Given the description of an element on the screen output the (x, y) to click on. 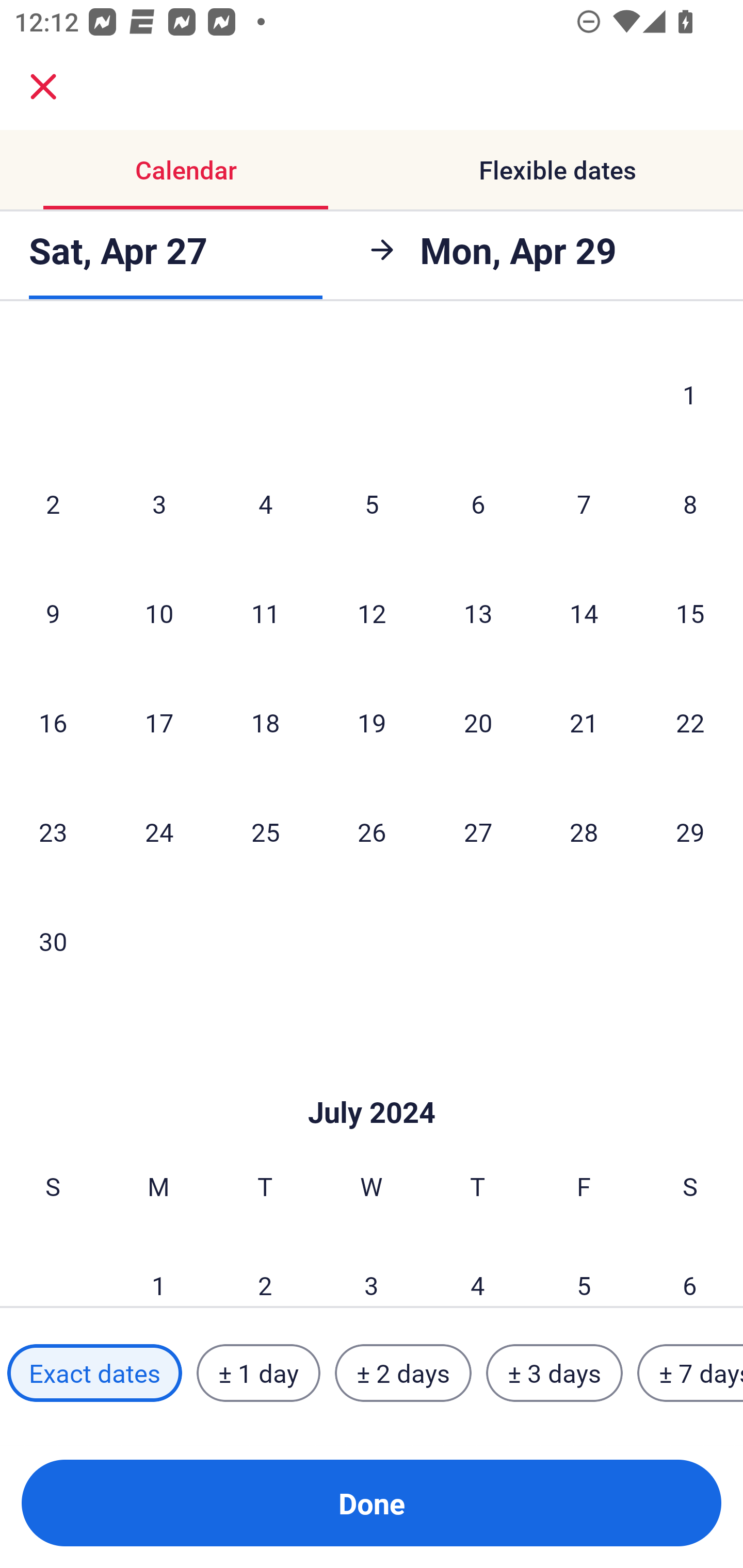
close. (43, 86)
Flexible dates (557, 170)
1 Saturday, June 1, 2024 (689, 393)
2 Sunday, June 2, 2024 (53, 503)
3 Monday, June 3, 2024 (159, 503)
4 Tuesday, June 4, 2024 (265, 503)
5 Wednesday, June 5, 2024 (371, 503)
6 Thursday, June 6, 2024 (477, 503)
7 Friday, June 7, 2024 (584, 503)
8 Saturday, June 8, 2024 (690, 503)
9 Sunday, June 9, 2024 (53, 612)
10 Monday, June 10, 2024 (159, 612)
11 Tuesday, June 11, 2024 (265, 612)
12 Wednesday, June 12, 2024 (371, 612)
13 Thursday, June 13, 2024 (477, 612)
14 Friday, June 14, 2024 (584, 612)
15 Saturday, June 15, 2024 (690, 612)
16 Sunday, June 16, 2024 (53, 721)
17 Monday, June 17, 2024 (159, 721)
18 Tuesday, June 18, 2024 (265, 721)
19 Wednesday, June 19, 2024 (371, 721)
20 Thursday, June 20, 2024 (477, 721)
21 Friday, June 21, 2024 (584, 721)
22 Saturday, June 22, 2024 (690, 721)
23 Sunday, June 23, 2024 (53, 831)
24 Monday, June 24, 2024 (159, 831)
25 Tuesday, June 25, 2024 (265, 831)
26 Wednesday, June 26, 2024 (371, 831)
27 Thursday, June 27, 2024 (477, 831)
28 Friday, June 28, 2024 (584, 831)
29 Saturday, June 29, 2024 (690, 831)
30 Sunday, June 30, 2024 (53, 940)
Skip to Done (371, 1081)
1 Monday, July 1, 2024 (158, 1269)
2 Tuesday, July 2, 2024 (264, 1269)
3 Wednesday, July 3, 2024 (371, 1269)
4 Thursday, July 4, 2024 (477, 1269)
5 Friday, July 5, 2024 (583, 1269)
6 Saturday, July 6, 2024 (689, 1269)
Exact dates (94, 1372)
± 1 day (258, 1372)
± 2 days (403, 1372)
± 3 days (553, 1372)
± 7 days (690, 1372)
Done (371, 1502)
